Given the description of an element on the screen output the (x, y) to click on. 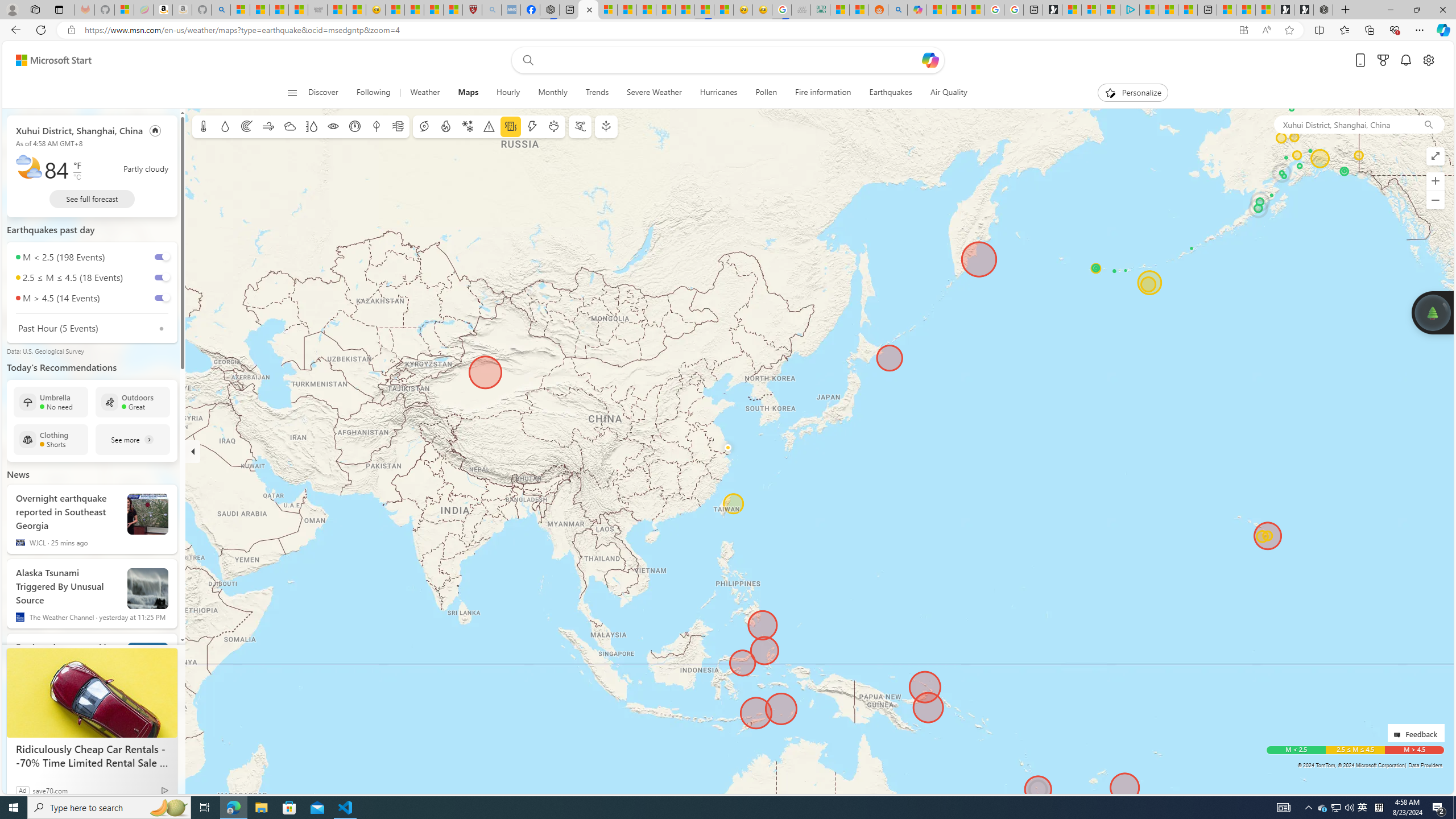
Microsoft-Report a Concern to Bing (123, 9)
Hurricane (423, 126)
Read aloud this page (Ctrl+Shift+U) (1266, 29)
Navy Quest (800, 9)
Join us in planting real trees to help our planet! (1431, 311)
Zoom in (1435, 180)
New Tab (1346, 9)
Discover (327, 92)
Visibility (333, 126)
Pollen (765, 92)
